Given the description of an element on the screen output the (x, y) to click on. 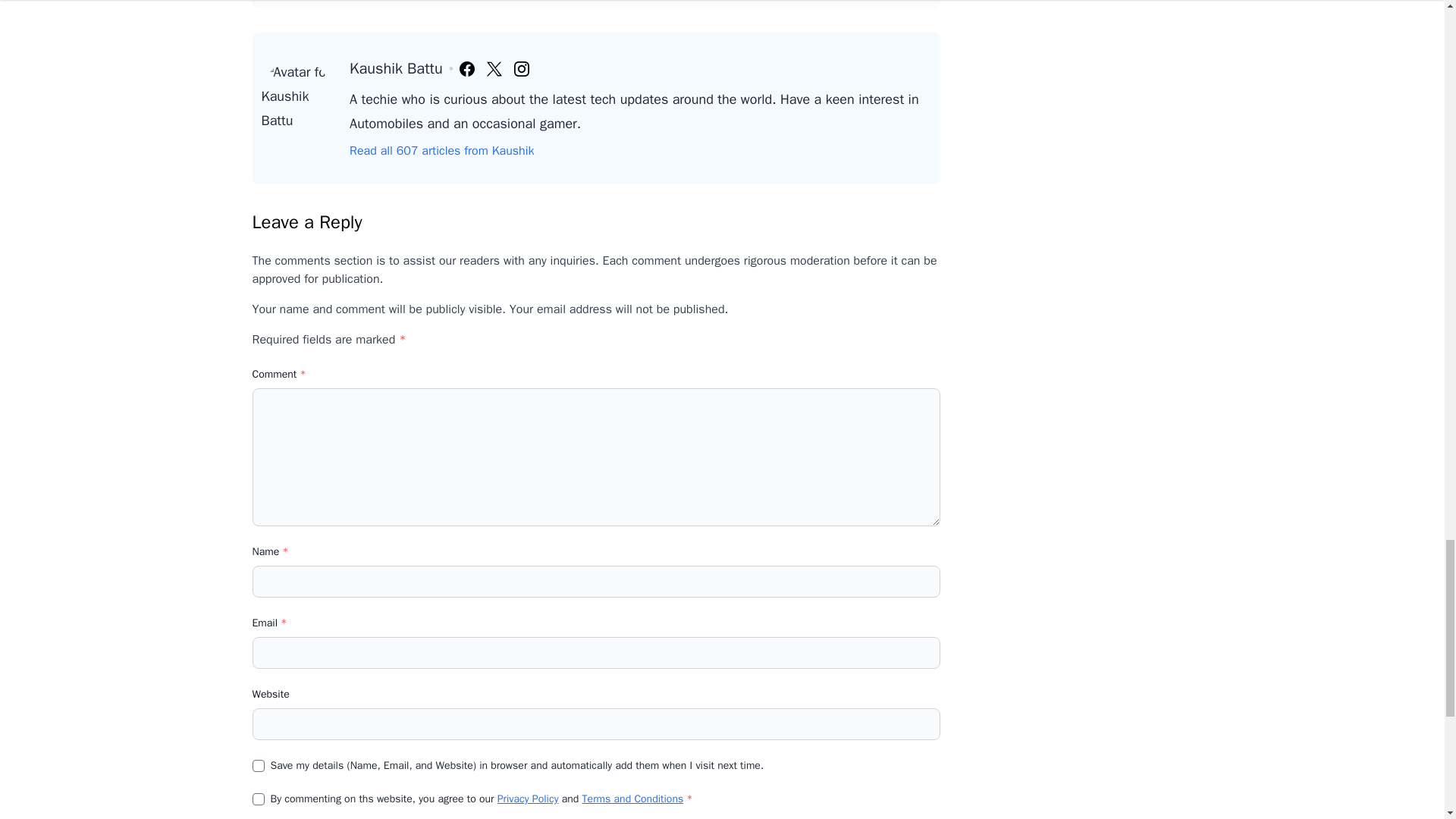
yes (257, 766)
on (257, 799)
Read all 607 articles from Kaushik (441, 150)
